Given the description of an element on the screen output the (x, y) to click on. 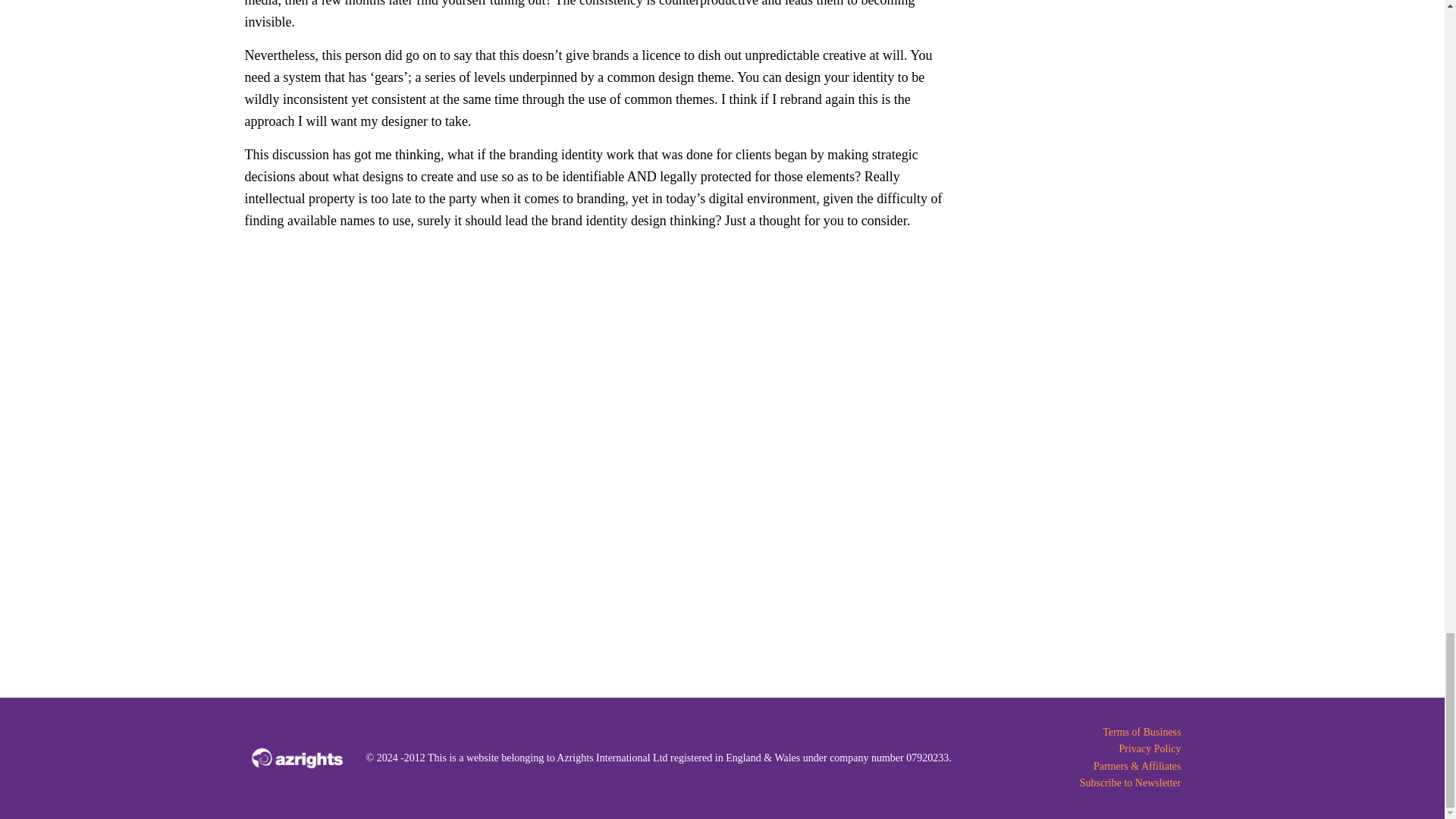
Subscribe to Newsletter (1079, 782)
Privacy Policy (1079, 749)
Terms of Business (1079, 732)
